Given the description of an element on the screen output the (x, y) to click on. 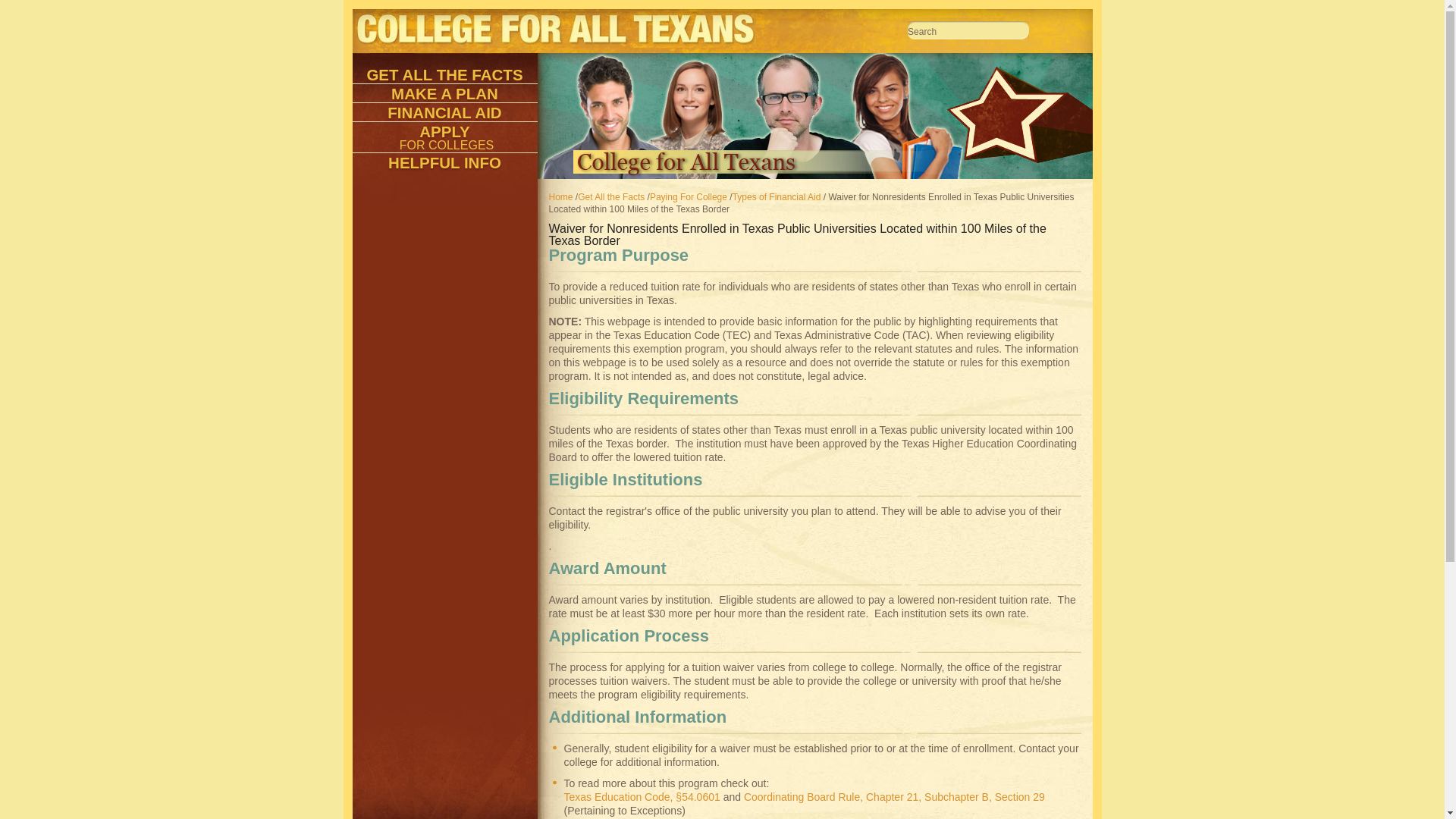
APPLY (444, 131)
MAKE A PLAN (444, 93)
GET ALL THE FACTS (444, 74)
Search (968, 31)
HELPFUL INFO (444, 162)
FINANCIAL AID (444, 112)
Search (968, 31)
Search (968, 31)
